Given the description of an element on the screen output the (x, y) to click on. 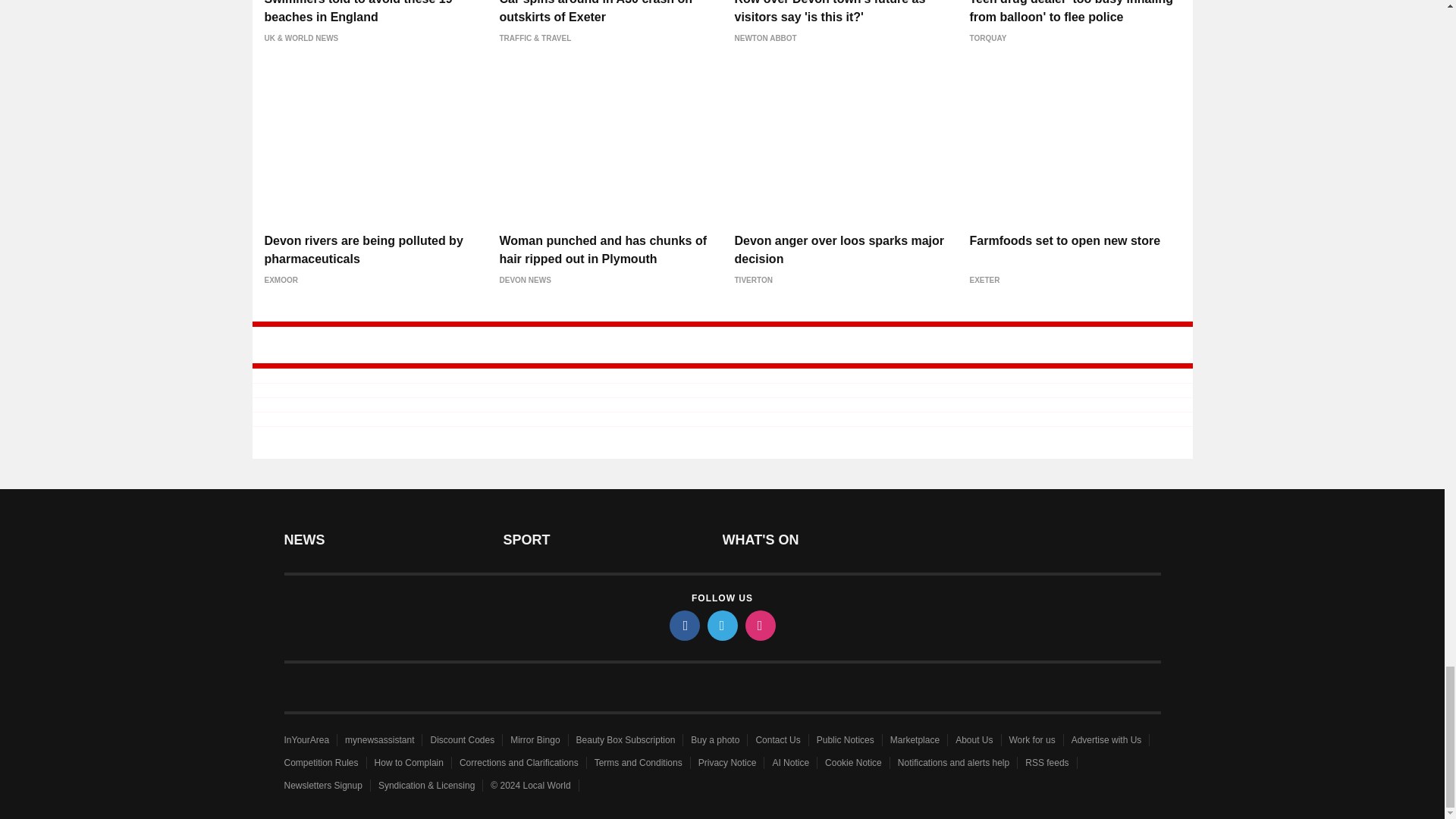
instagram (759, 625)
twitter (721, 625)
facebook (683, 625)
